Given the description of an element on the screen output the (x, y) to click on. 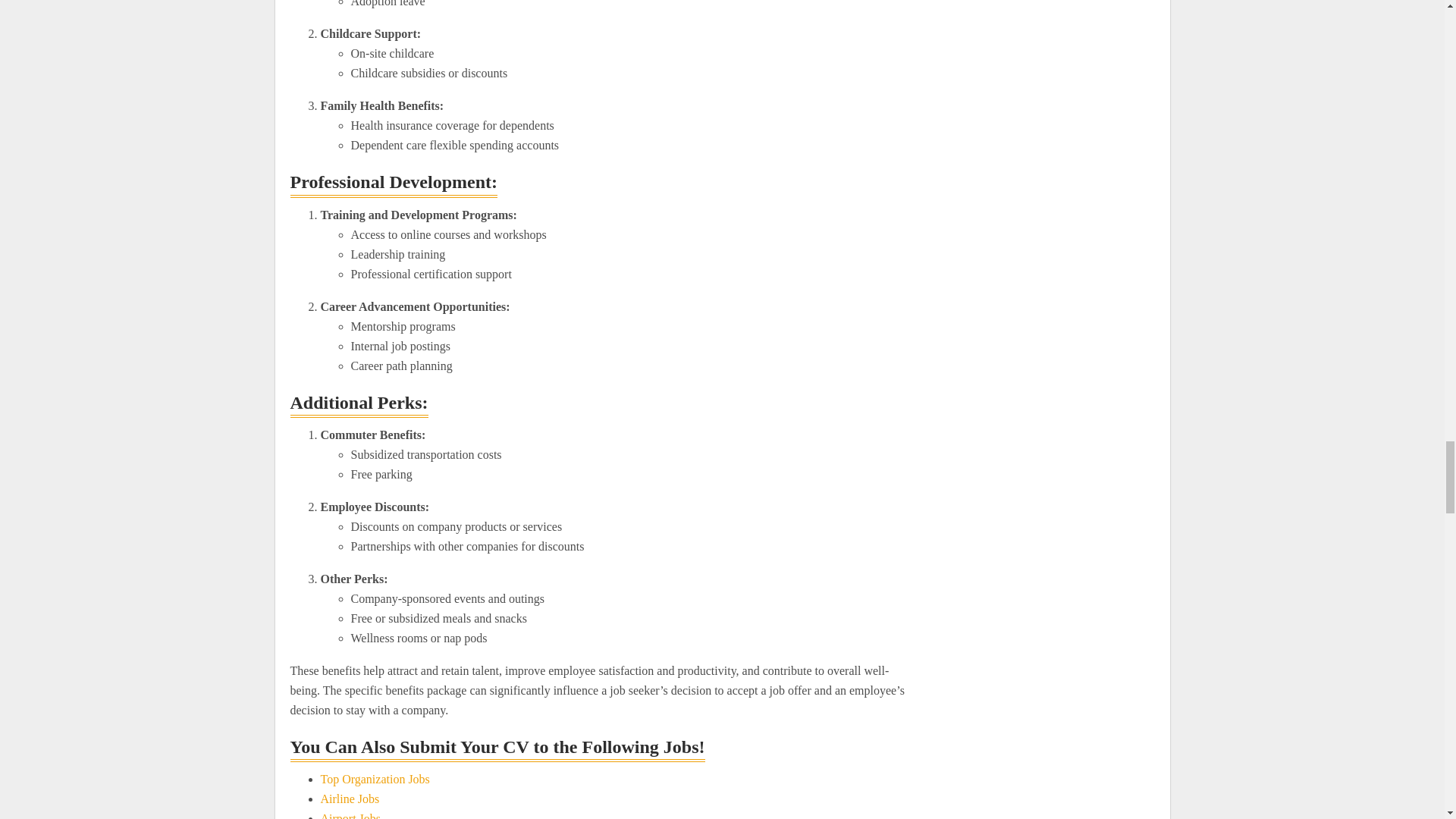
Airline Jobs (349, 798)
Top Organization Jobs (374, 779)
Airport Jobs (350, 815)
